Given the description of an element on the screen output the (x, y) to click on. 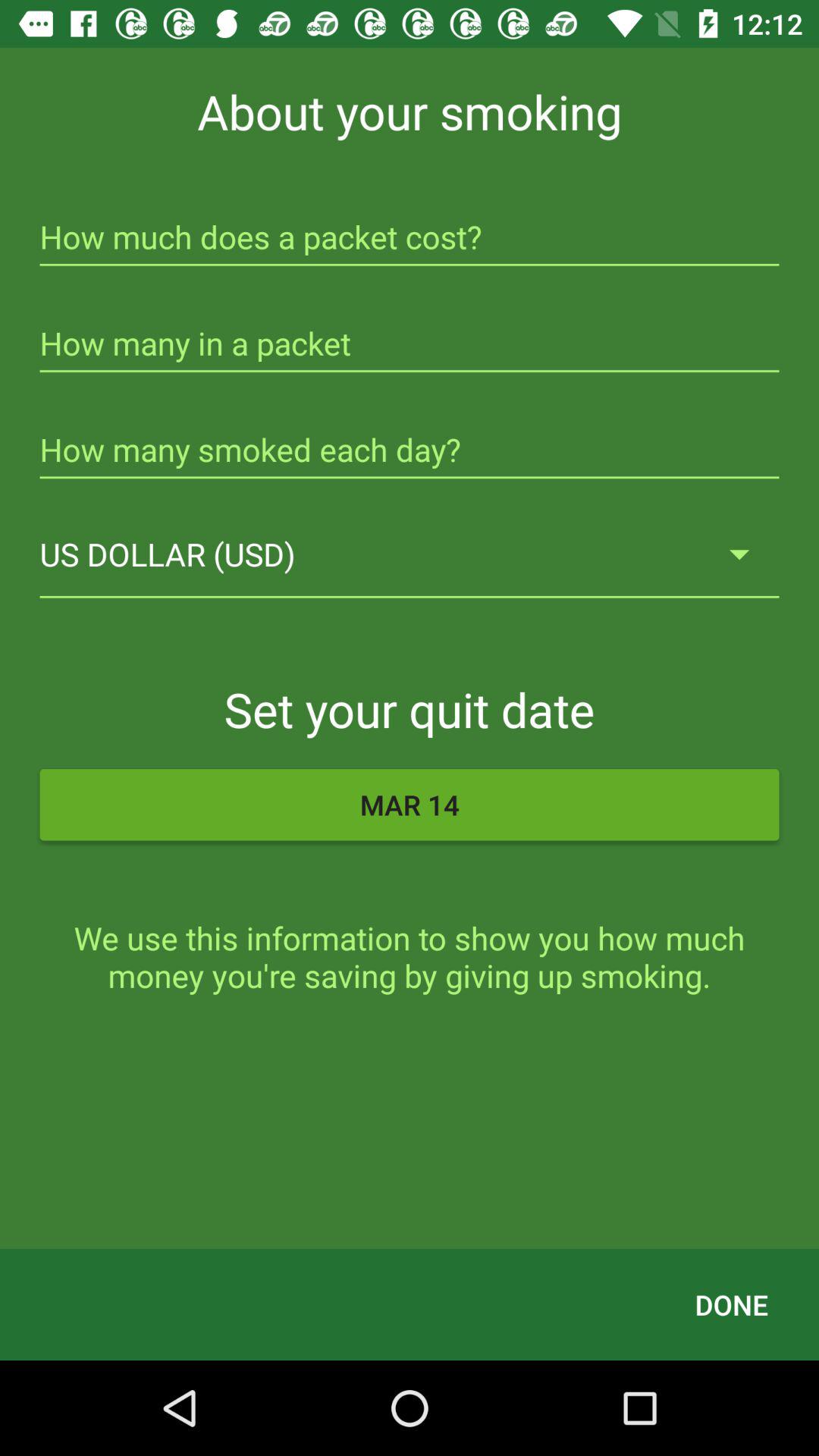
launch icon below the set your quit icon (409, 804)
